Given the description of an element on the screen output the (x, y) to click on. 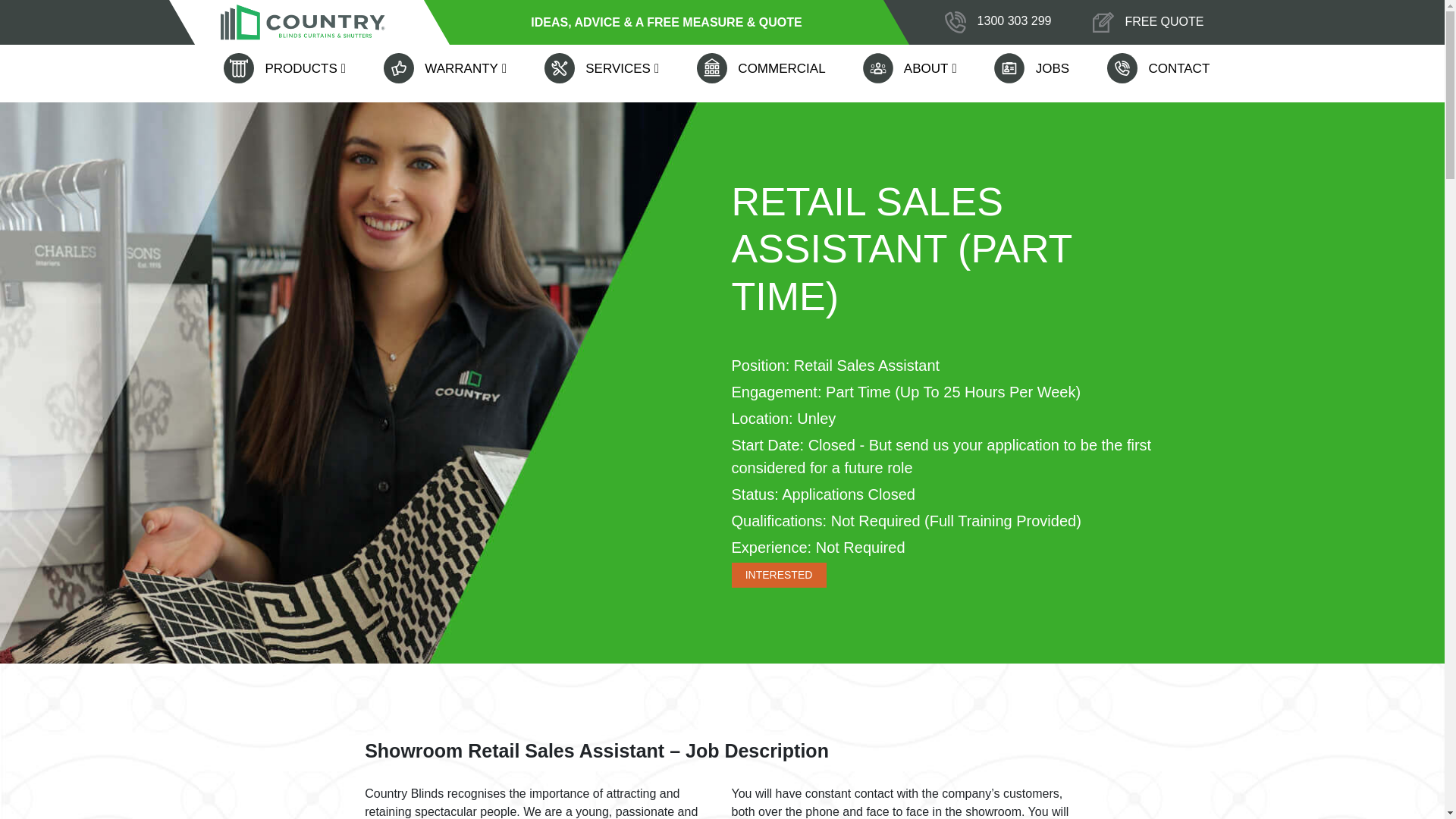
FREE QUOTE (1148, 22)
WARRANTY (450, 67)
INTERESTED (777, 575)
PRODUCTS (290, 67)
1300 303 299 (1013, 21)
